Given the description of an element on the screen output the (x, y) to click on. 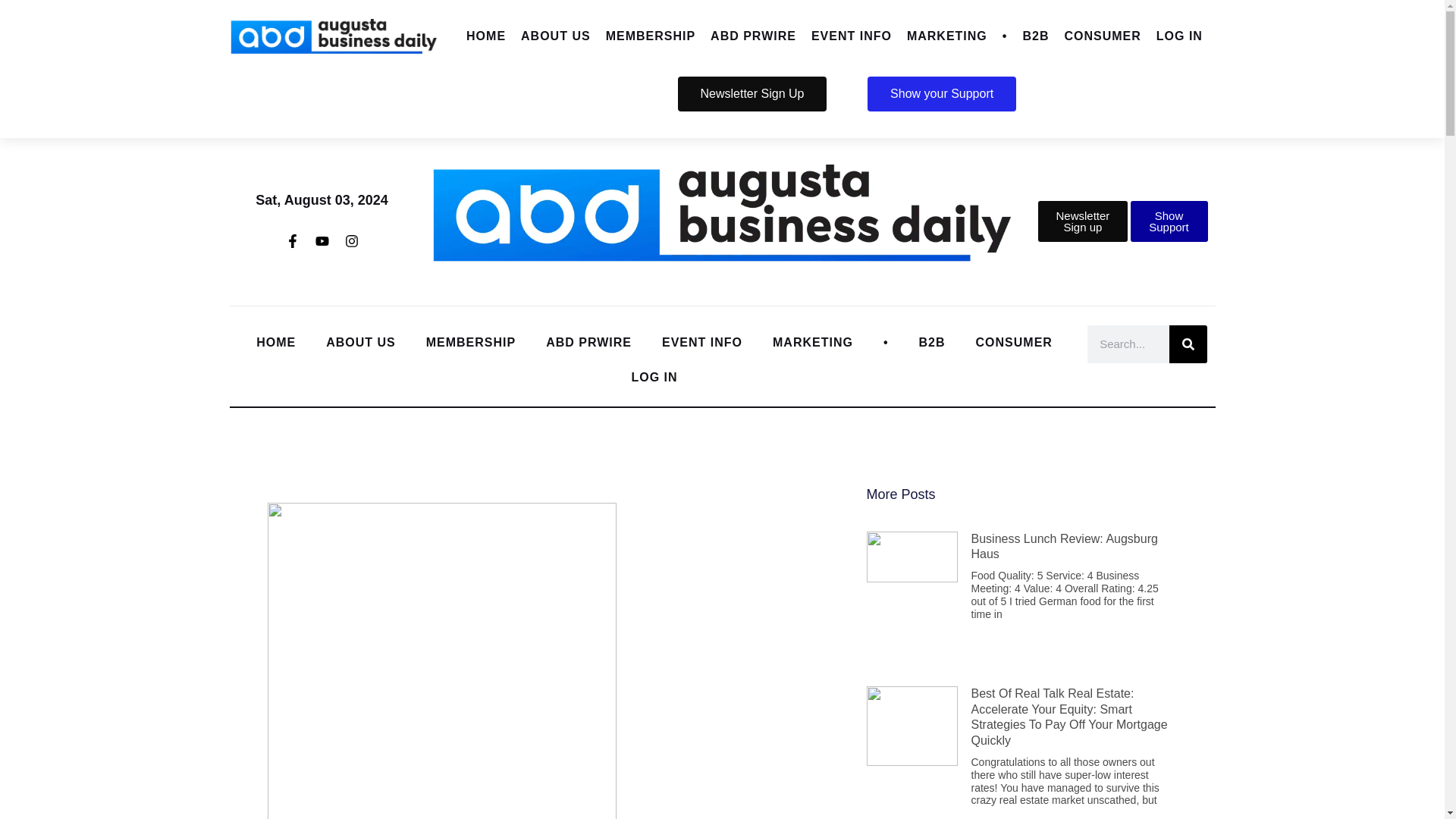
ABD PRWIRE (753, 36)
EVENT INFO (851, 36)
MARKETING (946, 36)
ABOUT US (555, 36)
HOME (485, 36)
MEMBERSHIP (650, 36)
